Given the description of an element on the screen output the (x, y) to click on. 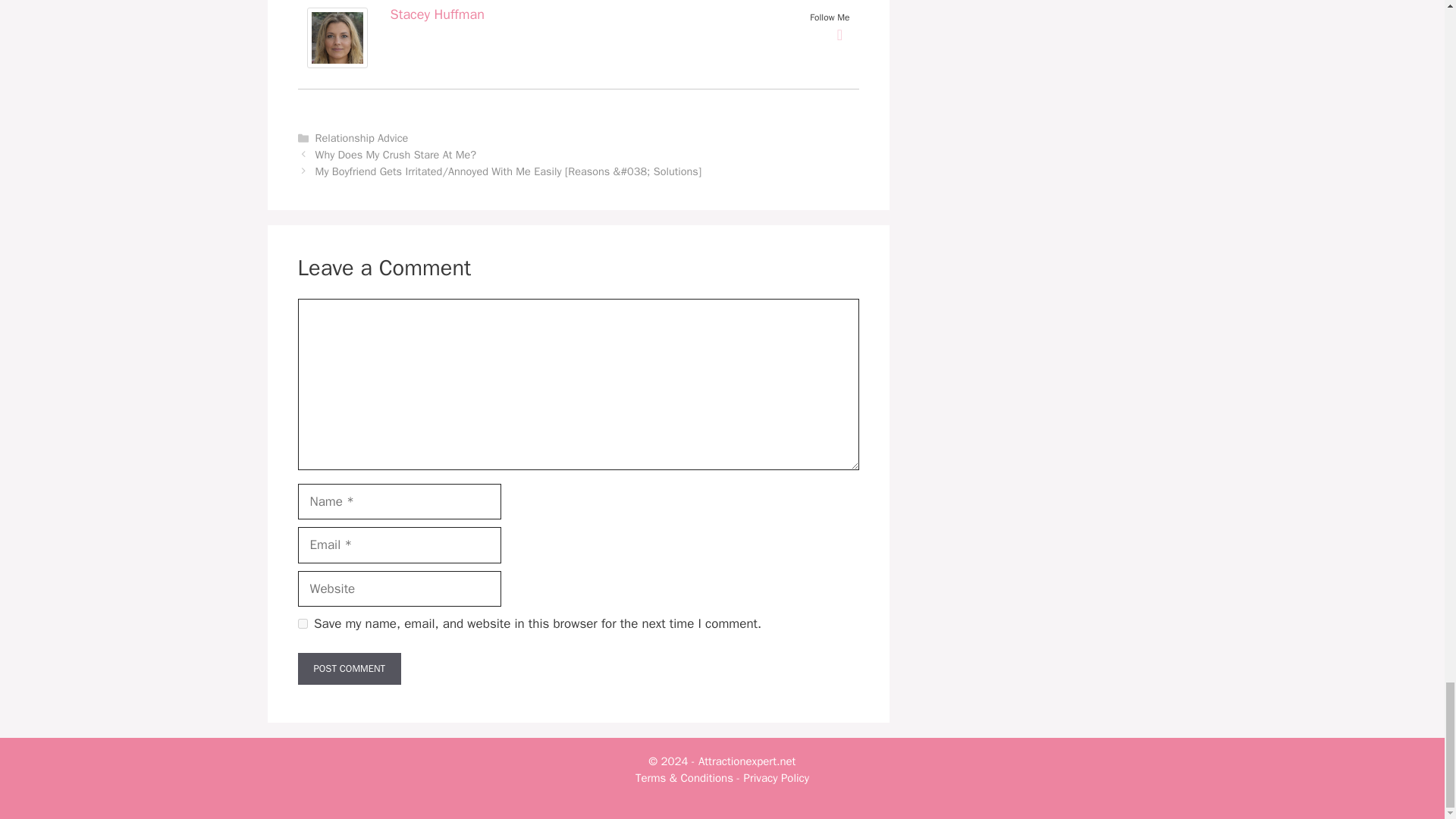
Why Does My Crush Stare At Me? (396, 154)
Stacey Huffman (335, 64)
Relationship Advice (362, 137)
Privacy Policy (776, 777)
Twitter (839, 34)
Post Comment (349, 668)
Post Comment (349, 668)
Stacey Huffman (436, 13)
yes (302, 623)
